Given the description of an element on the screen output the (x, y) to click on. 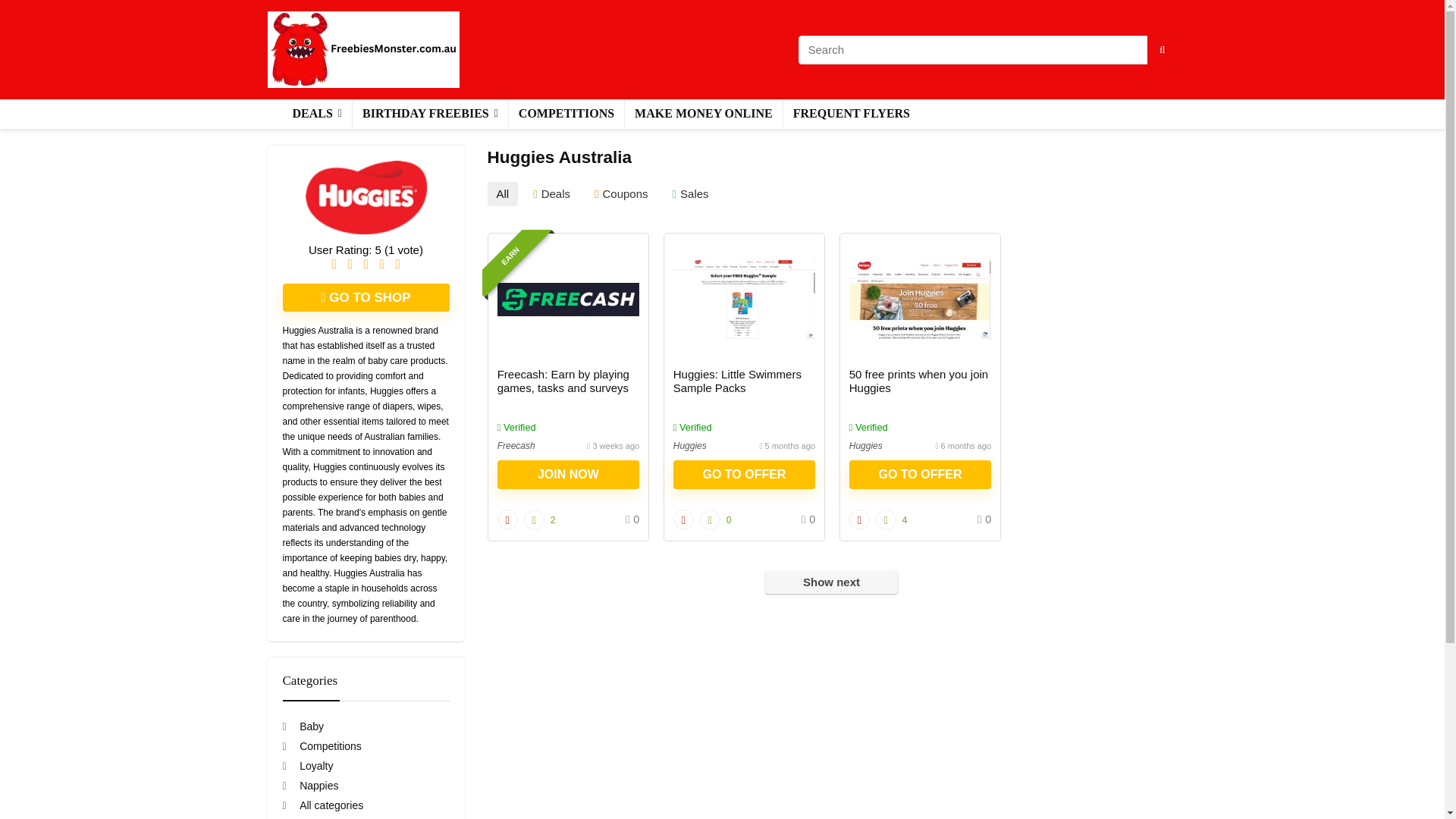
50 free prints when you join Huggies (918, 380)
Huggies: Little Swimmers Sample Packs (737, 380)
DEALS (316, 113)
BIRTHDAY FREEBIES (430, 113)
Vote down (858, 519)
GO TO OFFER (743, 474)
COMPETITIONS (566, 113)
MAKE MONEY ONLINE (703, 113)
All categories (322, 805)
GO TO SHOP (365, 297)
Vote up (886, 519)
Nappies (309, 785)
Vote down (507, 519)
JOIN NOW (568, 474)
Freecash (516, 445)
